Given the description of an element on the screen output the (x, y) to click on. 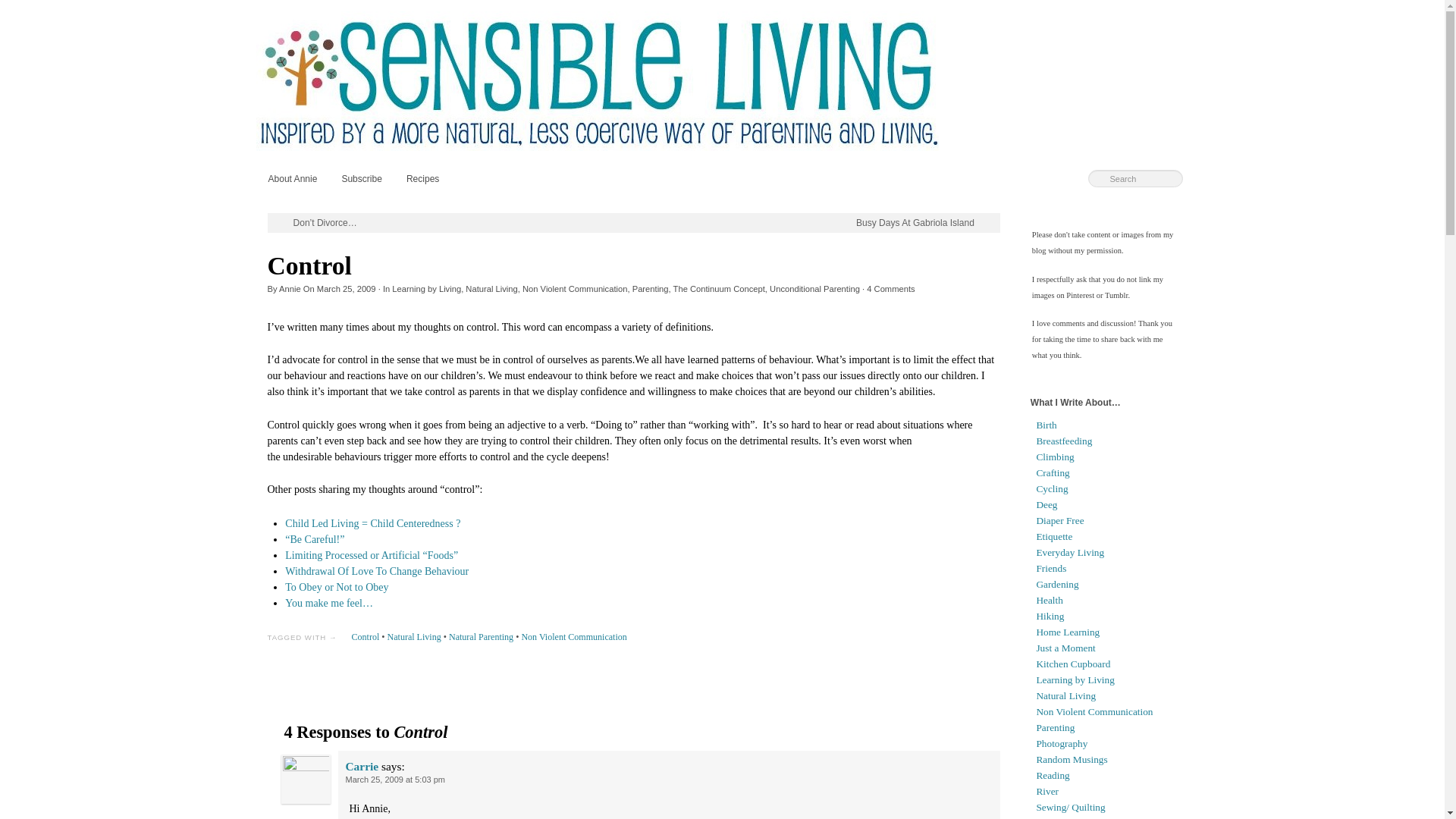
The Continuum Concept (718, 288)
Climbing (1054, 456)
Non Violent Communication (573, 636)
Control (366, 636)
About Annie (293, 178)
Cycling (1051, 488)
Crafting (1051, 472)
Natural Living (414, 636)
Natural Living (490, 288)
Posts by Annie (290, 288)
Withdrawal Of Love To Change Behaviour (376, 571)
Busy Days At Gabriola Island (924, 223)
Parenting (649, 288)
Annie (290, 288)
Deeg (1046, 504)
